Given the description of an element on the screen output the (x, y) to click on. 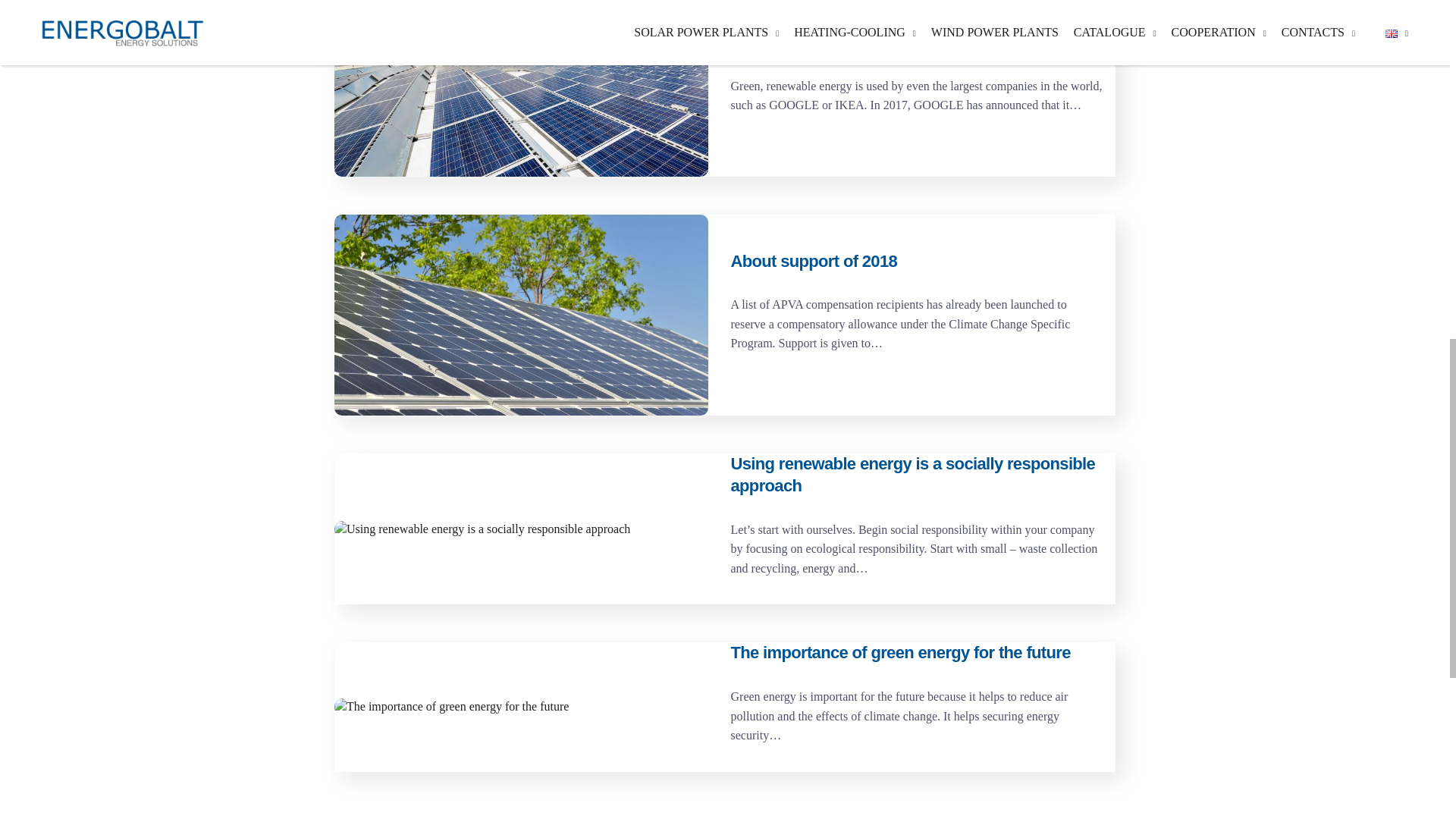
Scroll To Top (1393, 18)
